Given the description of an element on the screen output the (x, y) to click on. 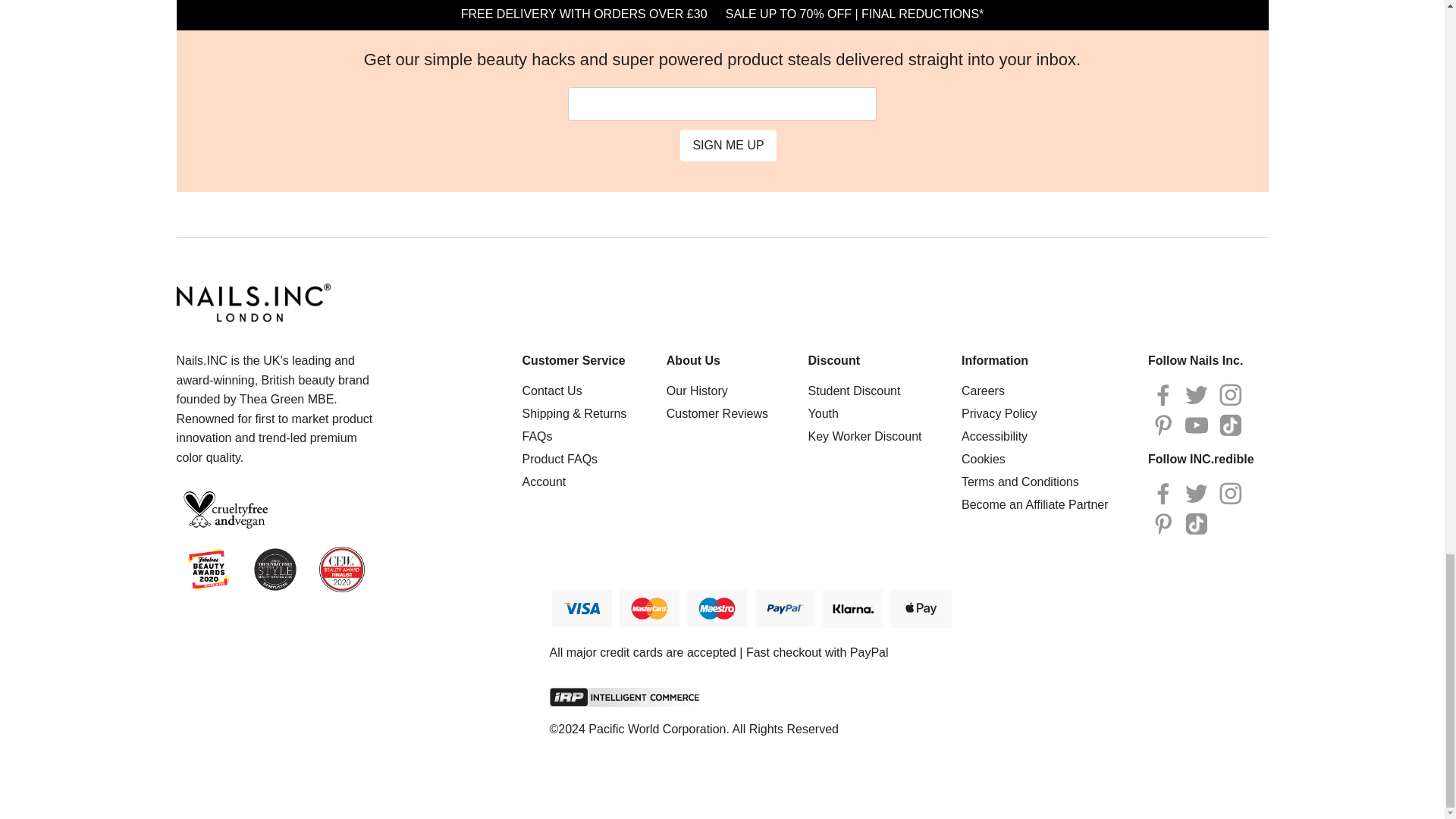
Sign me up (727, 145)
